Given the description of an element on the screen output the (x, y) to click on. 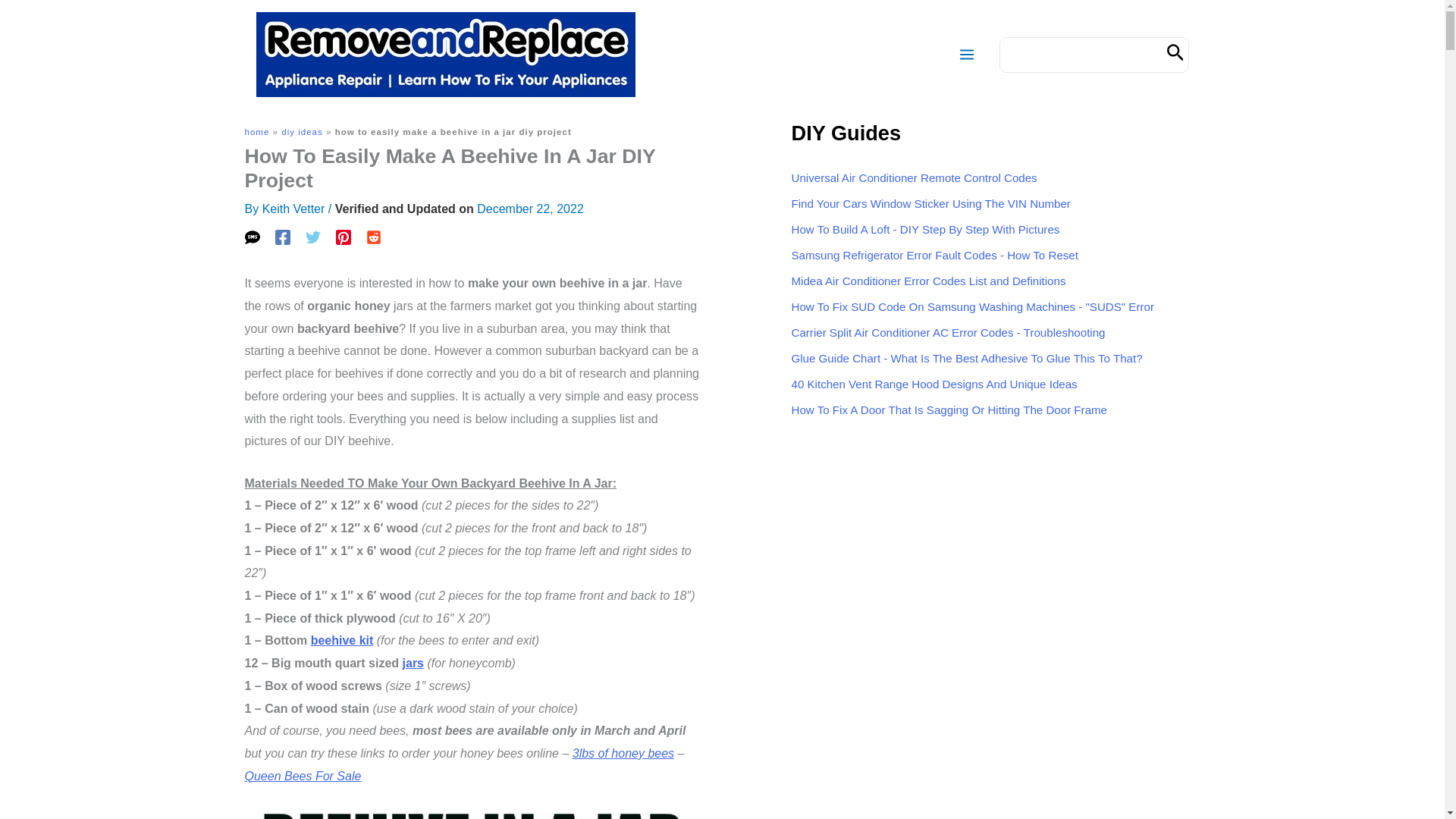
honey bees buy online (623, 753)
Order Bees Online (302, 775)
View all posts by Keith Vetter (293, 208)
Quart sized jars (413, 662)
Search (1175, 54)
Main Menu (966, 54)
